Given the description of an element on the screen output the (x, y) to click on. 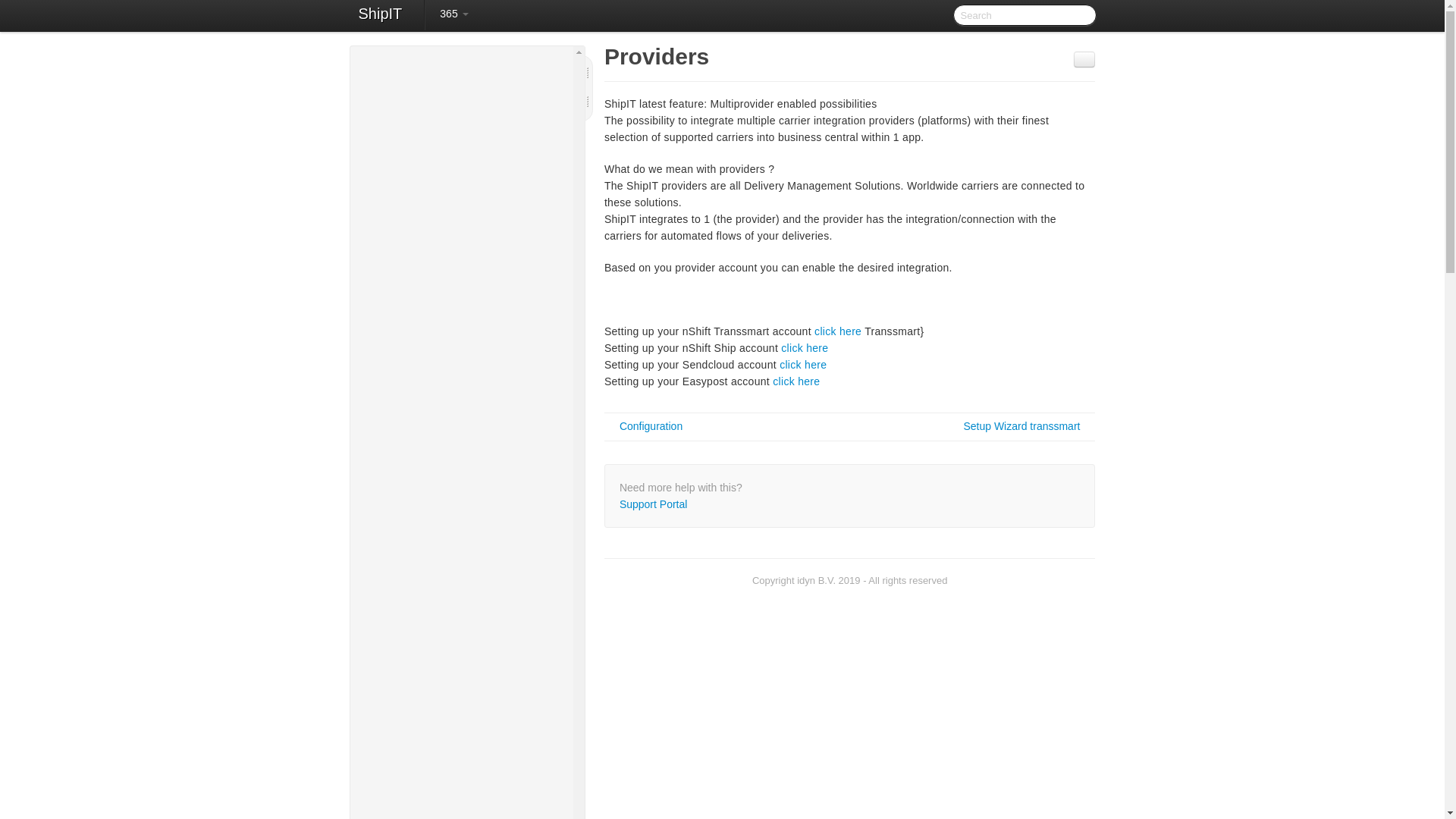
Combining shipments (483, 418)
Installation Requirements (467, 135)
Transport Order Card (475, 436)
Business Central SaaS (467, 206)
365 (454, 14)
Print page (1084, 59)
ShipIT (379, 15)
EORI numbers (483, 473)
Filter Templates (491, 368)
Transport Order basics (467, 277)
Key features (467, 98)
Installation (460, 188)
Logging (475, 541)
Specify box contents (475, 559)
Creating a New Transport Order (475, 295)
